Given the description of an element on the screen output the (x, y) to click on. 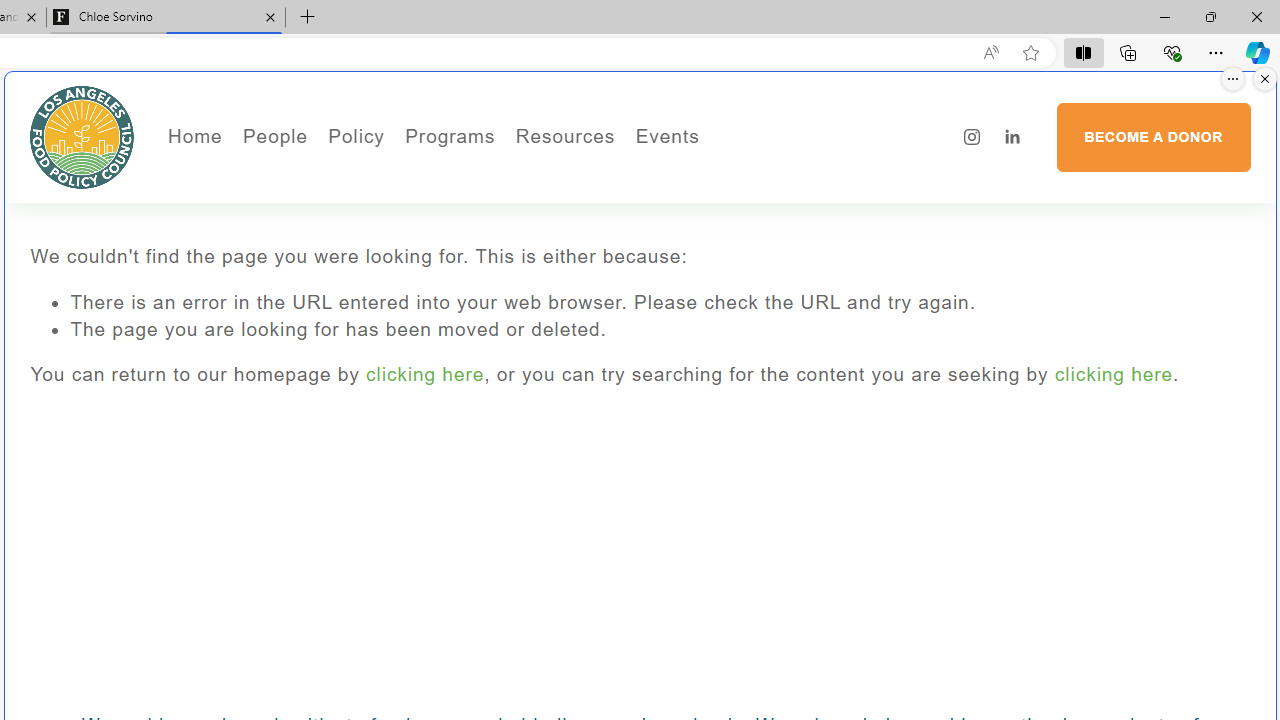
Instagram (972, 137)
Home (194, 136)
Blog (341, 261)
Restore (1210, 16)
The page you are looking for has been moved or deleted. (660, 330)
Food Rescue Macro Grants (643, 232)
Press (341, 232)
Collections (1128, 52)
Add this page to favorites (Ctrl+D) (1030, 53)
Reports (341, 290)
Read aloud this page (Ctrl+Shift+U) (991, 53)
Split screen (1083, 52)
